Given the description of an element on the screen output the (x, y) to click on. 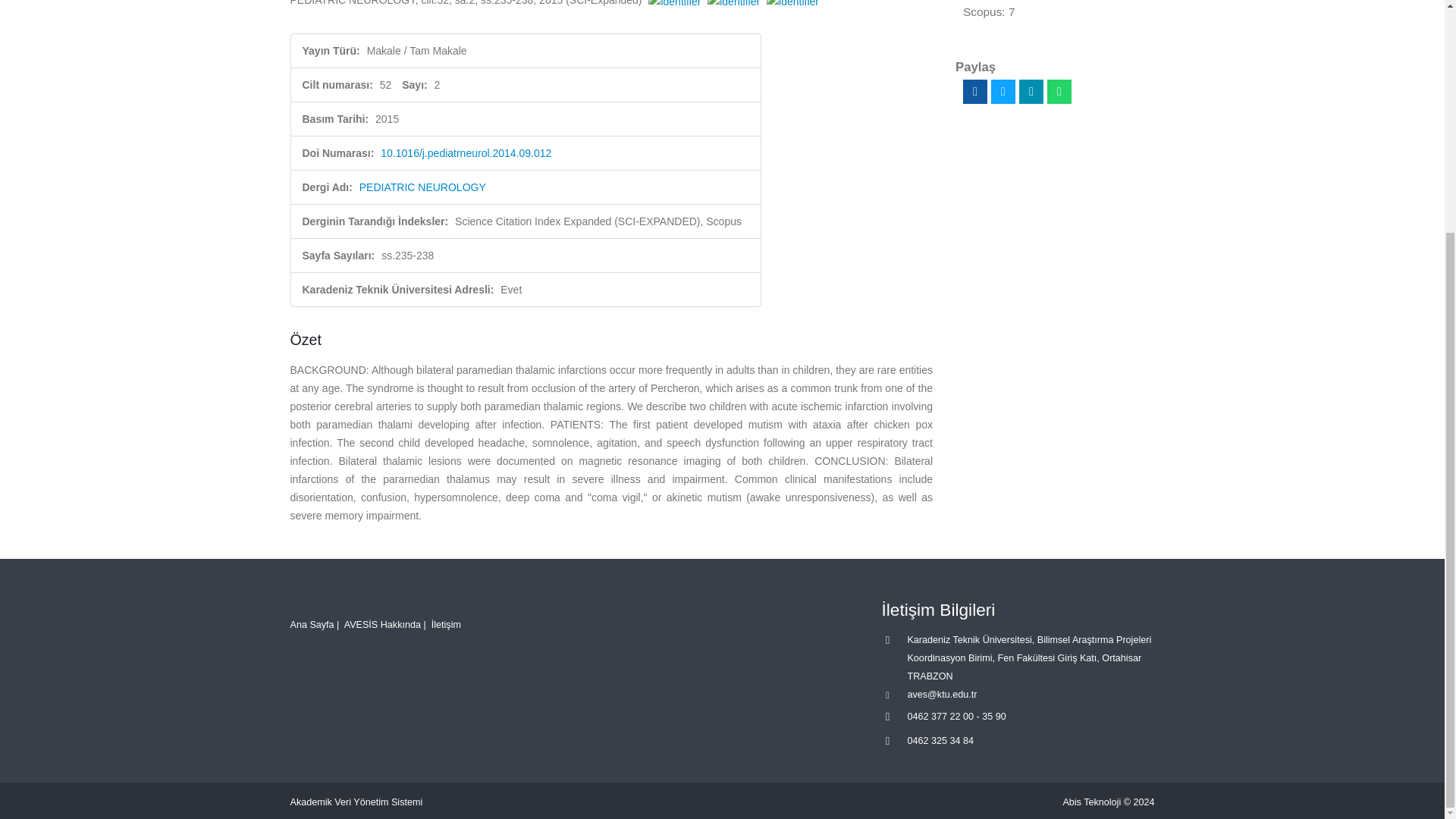
Abis Teknoloji (1091, 801)
0462 377 22 00 - 35 90 (956, 716)
PEDIATRIC NEUROLOGY (422, 186)
Ana Sayfa (311, 624)
0462 325 34 84 (940, 740)
